Given the description of an element on the screen output the (x, y) to click on. 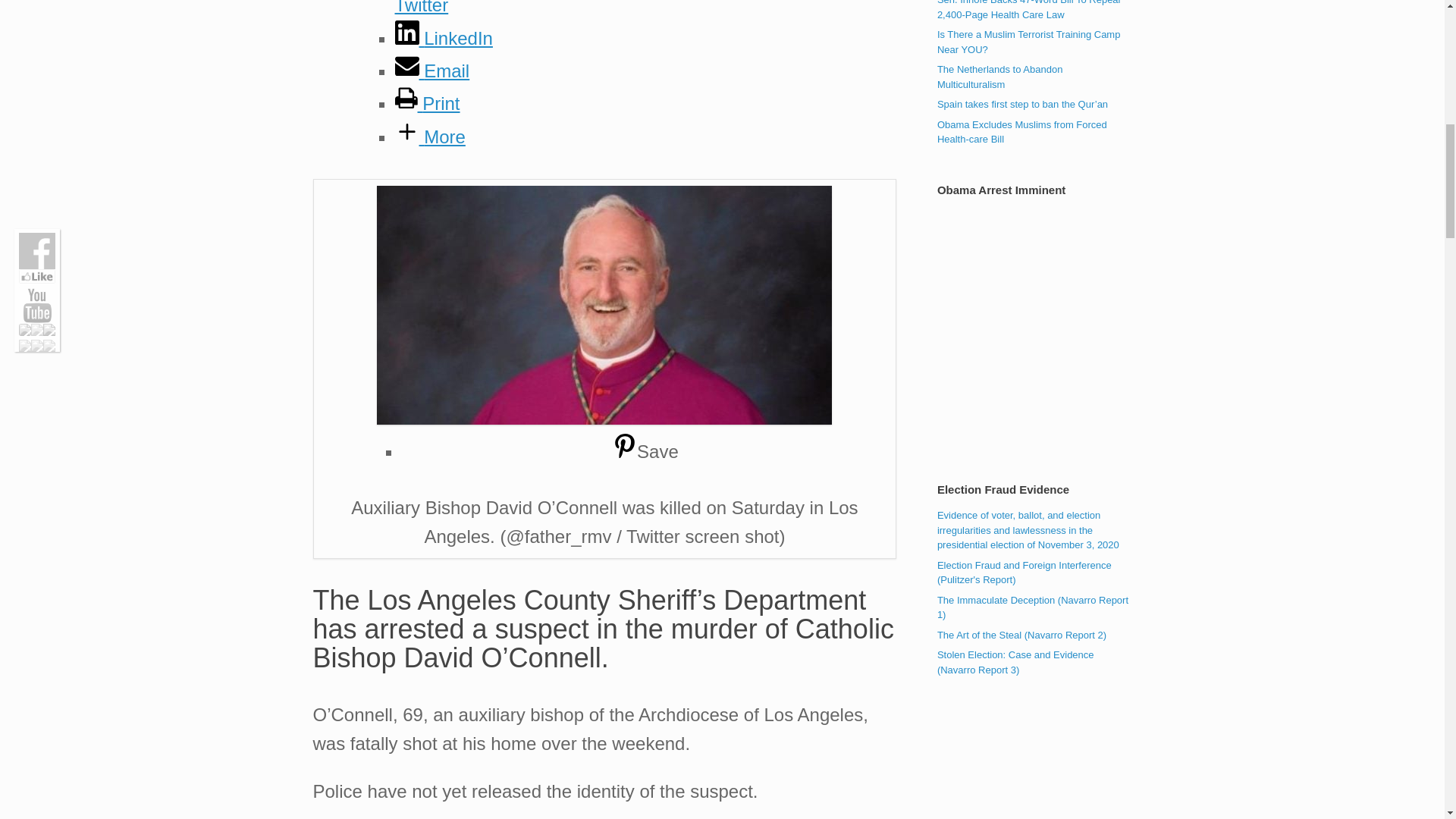
More (429, 136)
Twitter (645, 7)
Print (427, 103)
May 7, 2013 (1029, 41)
March 24, 2010 (1029, 10)
LinkedIn (443, 37)
Email (431, 70)
June 7, 2012 (1022, 103)
January 26, 2013 (999, 76)
